Given the description of an element on the screen output the (x, y) to click on. 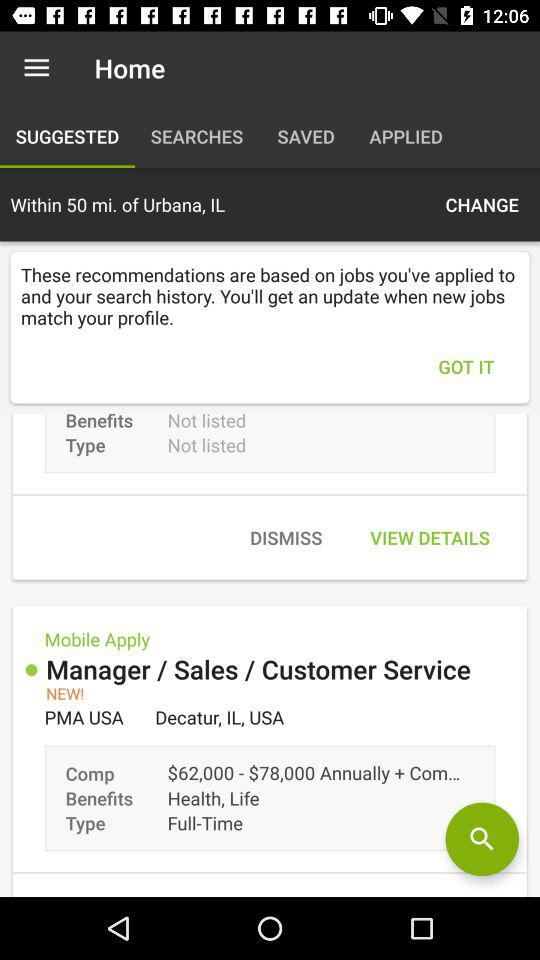
open the icon next to dismiss (429, 537)
